Given the description of an element on the screen output the (x, y) to click on. 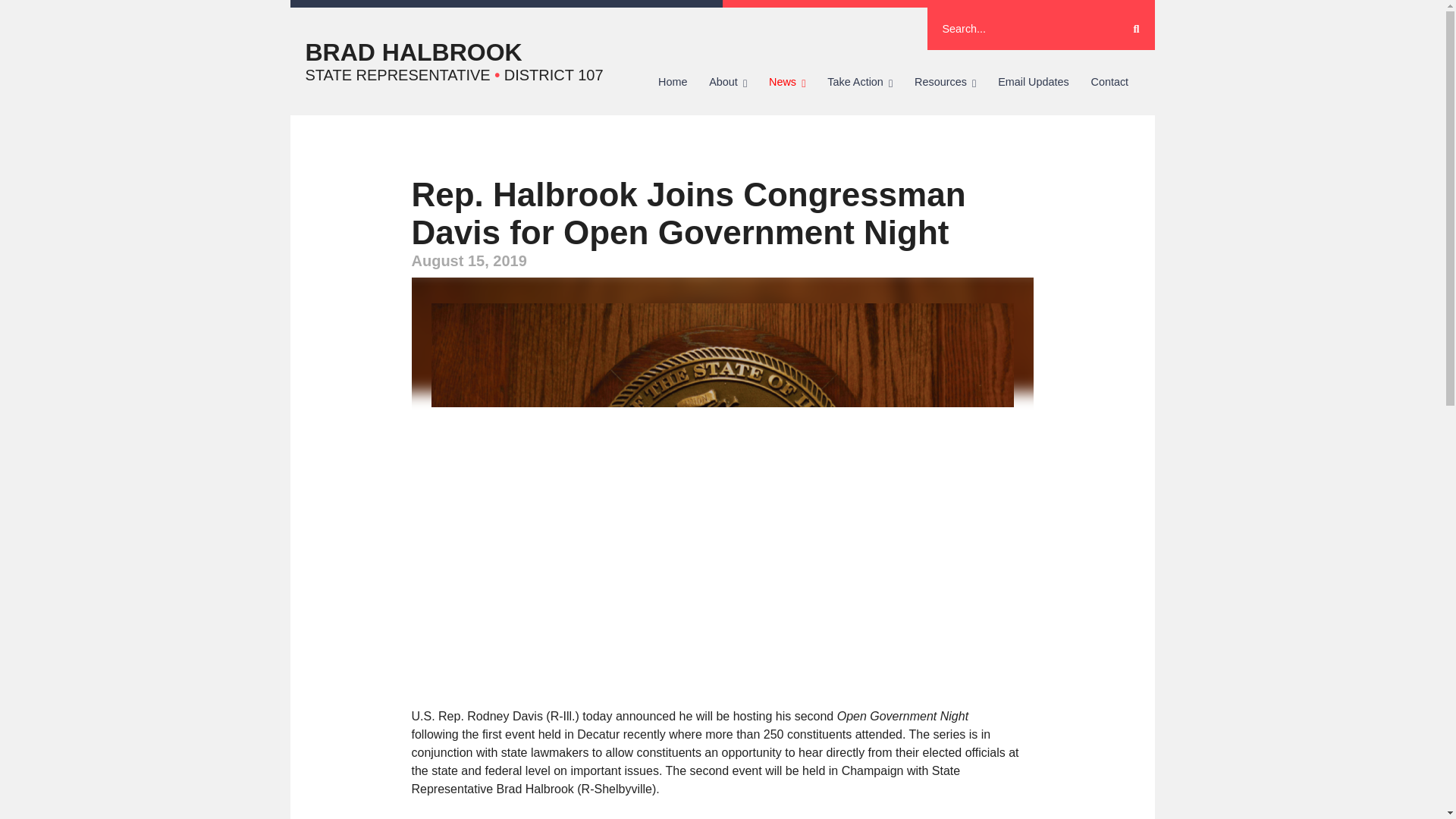
Take Action (860, 82)
Contact (1109, 82)
Home (672, 82)
Email Updates (1033, 82)
Resources (945, 82)
News (787, 82)
About (728, 82)
